Given the description of an element on the screen output the (x, y) to click on. 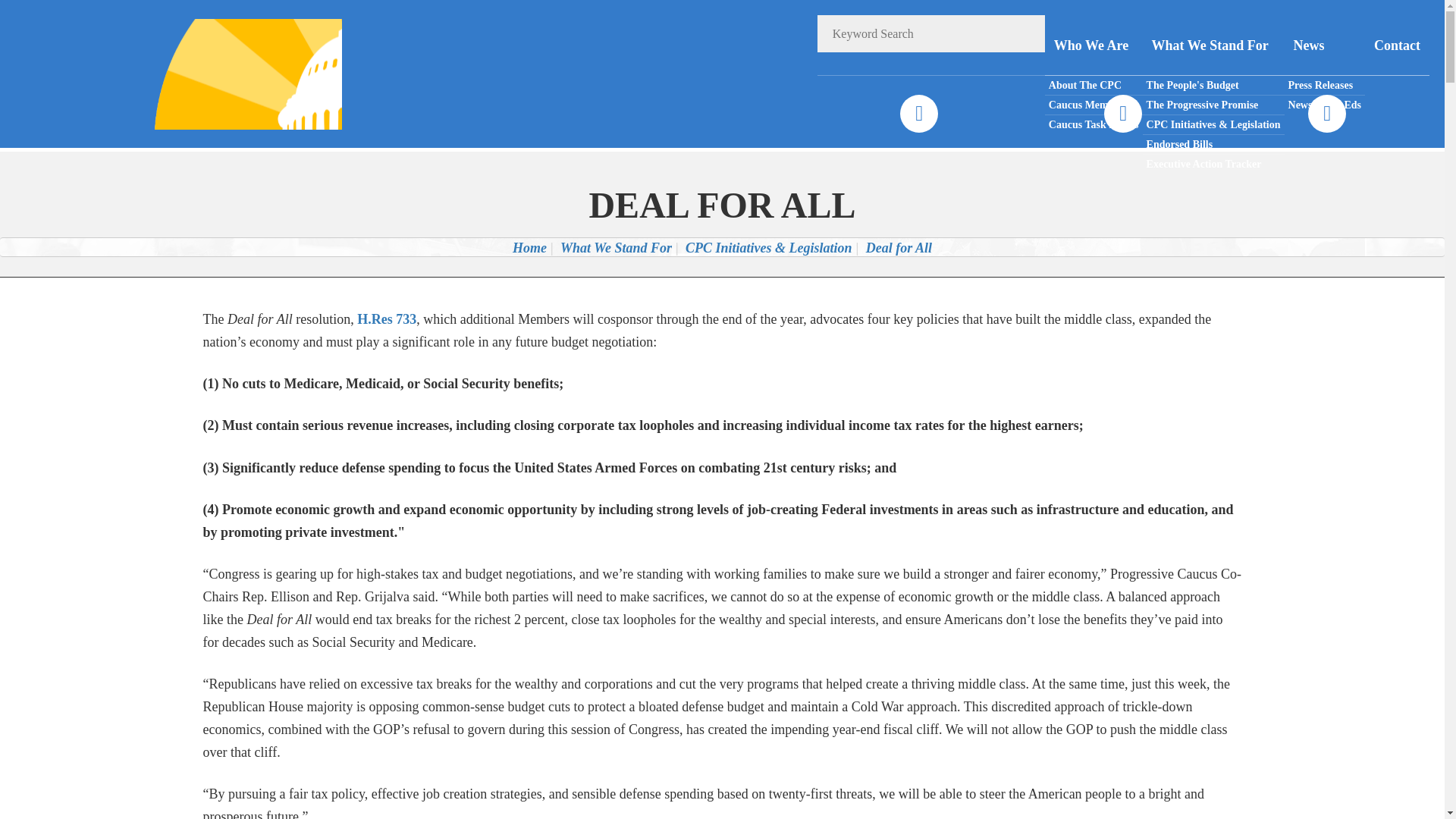
What We Stand For (1213, 45)
Caucus Members (1093, 105)
Executive Action Tracker (1213, 163)
Endorsed Bills (1213, 144)
Twitter (1122, 113)
Deal for All (898, 247)
Facebook (918, 113)
CONGRESSIONAL PROGRESSIVE CAUCUS (228, 73)
The Progressive Promise (1213, 105)
What We Stand For (615, 247)
Caucus Task Forces (1093, 124)
The People's Budget (1213, 85)
Who We Are (1093, 45)
YouTube (1326, 113)
Home (529, 247)
